Given the description of an element on the screen output the (x, y) to click on. 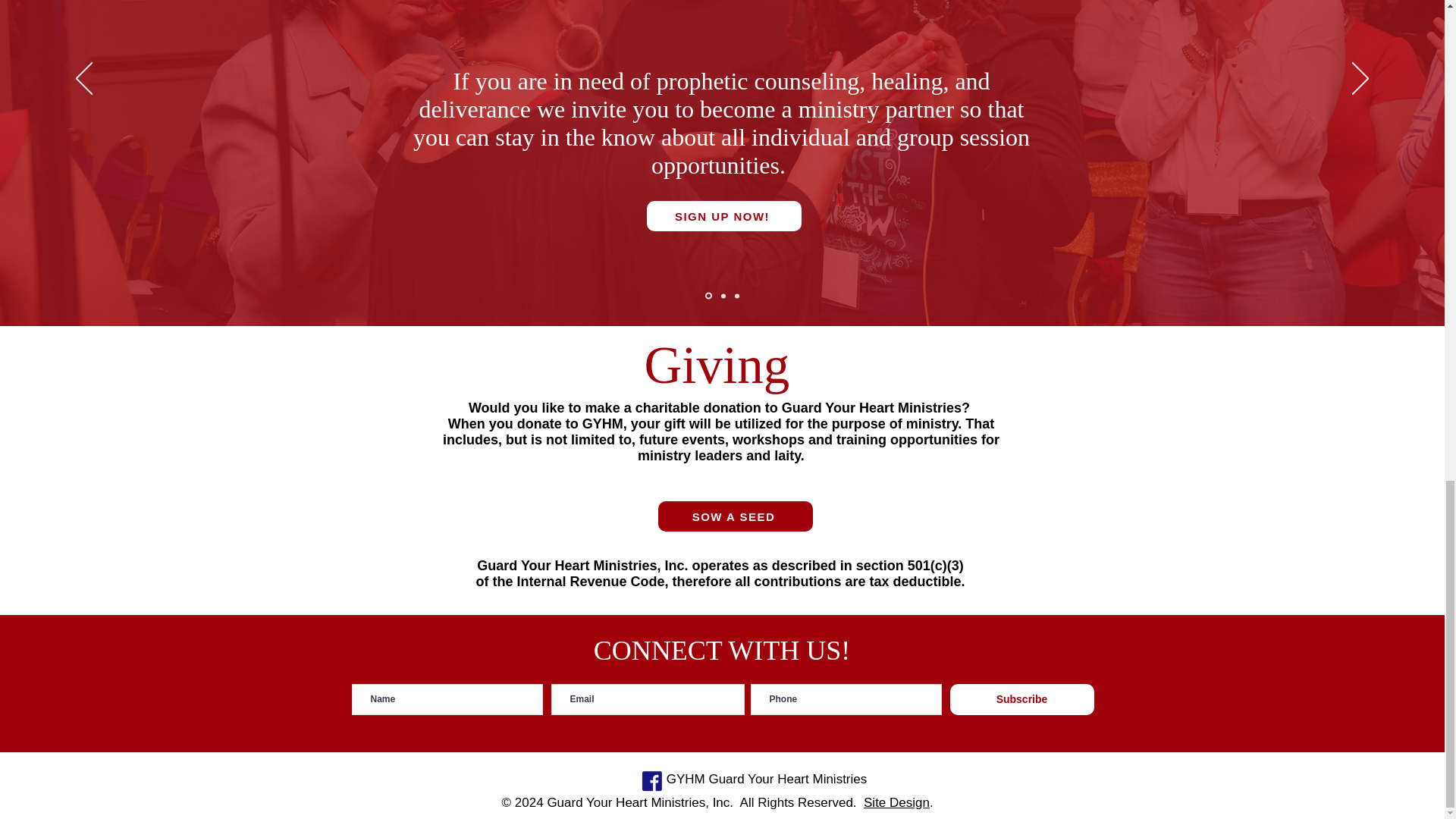
SOW A SEED (735, 516)
Site Design (896, 802)
SIGN UP NOW! (723, 215)
Subscribe (1021, 698)
